Given the description of an element on the screen output the (x, y) to click on. 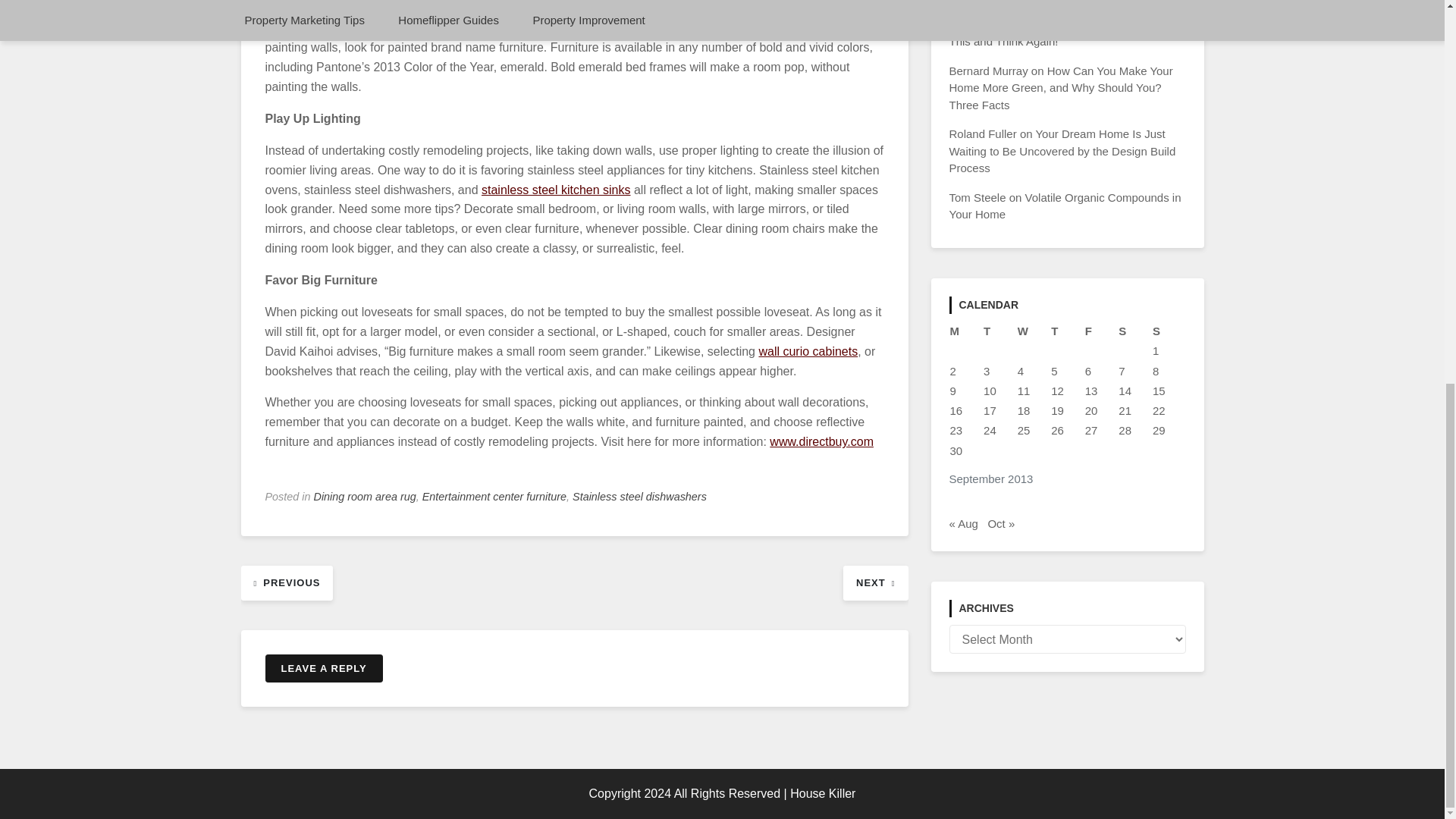
Sunday (1168, 331)
www.directbuy.com (821, 440)
NEXT (875, 581)
wall curio cabinets (807, 350)
19 (1057, 410)
Wednesday (1033, 331)
Volatile Organic Compounds in Your Home (1064, 205)
Thursday (1066, 331)
Monday (966, 331)
PREVIOUS (287, 581)
15 (1159, 390)
Browse here (555, 189)
Entertainment center furniture (494, 496)
Dining room area rug (365, 496)
